Given the description of an element on the screen output the (x, y) to click on. 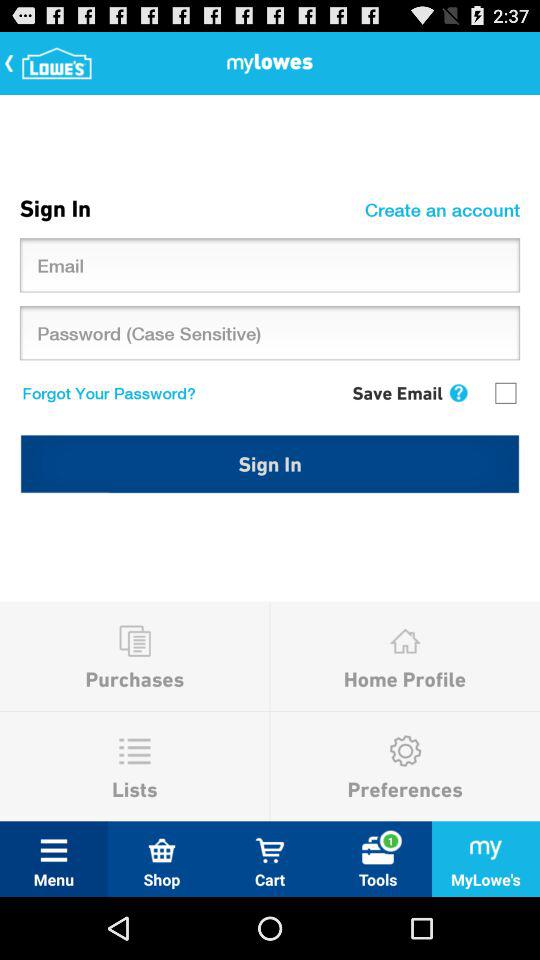
select item to the left of the save email (104, 392)
